Given the description of an element on the screen output the (x, y) to click on. 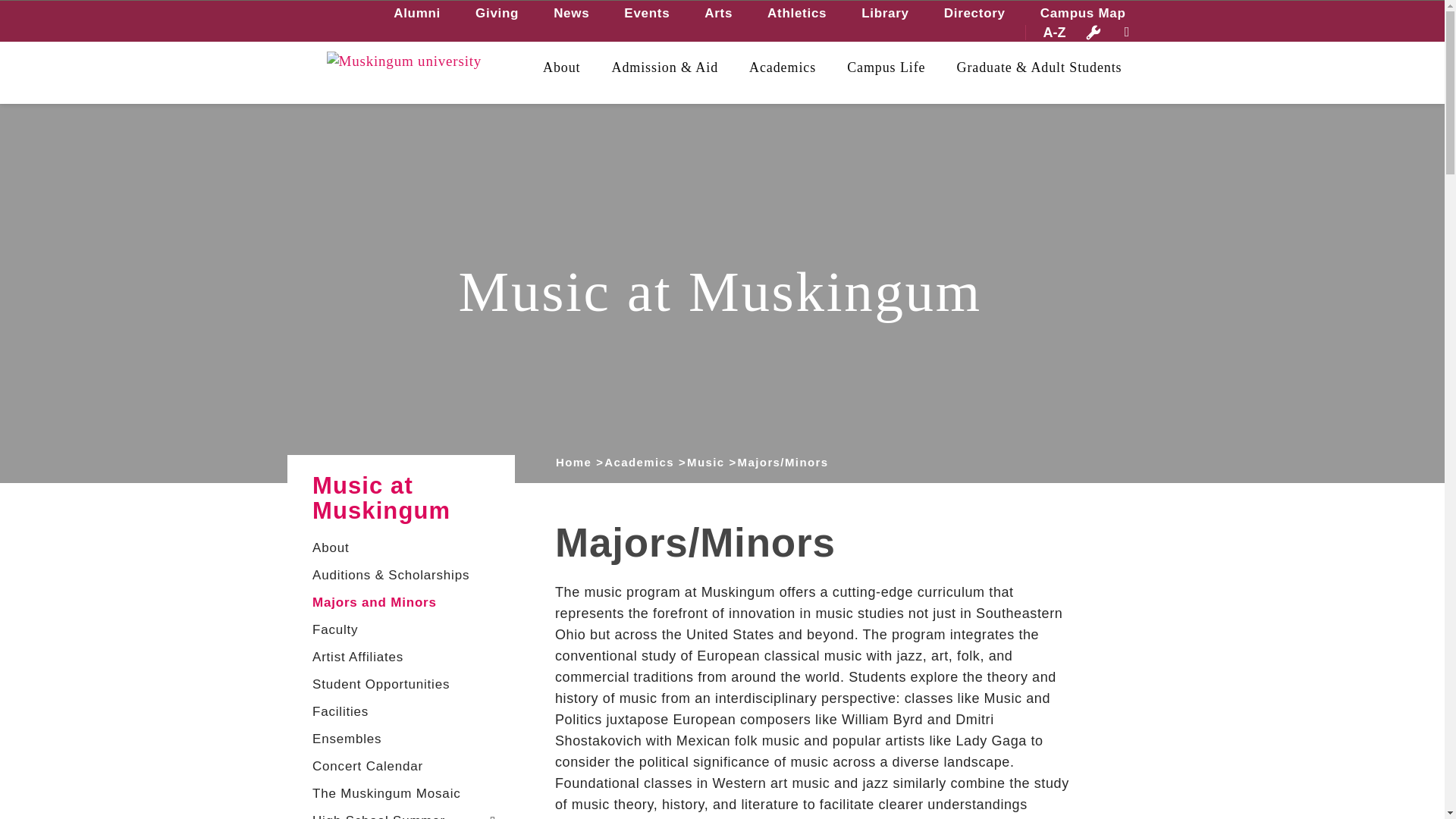
department menu opener (492, 816)
Academics (782, 67)
About (561, 67)
Search (33, 9)
Tools (1093, 32)
Campus Life (885, 67)
